Given the description of an element on the screen output the (x, y) to click on. 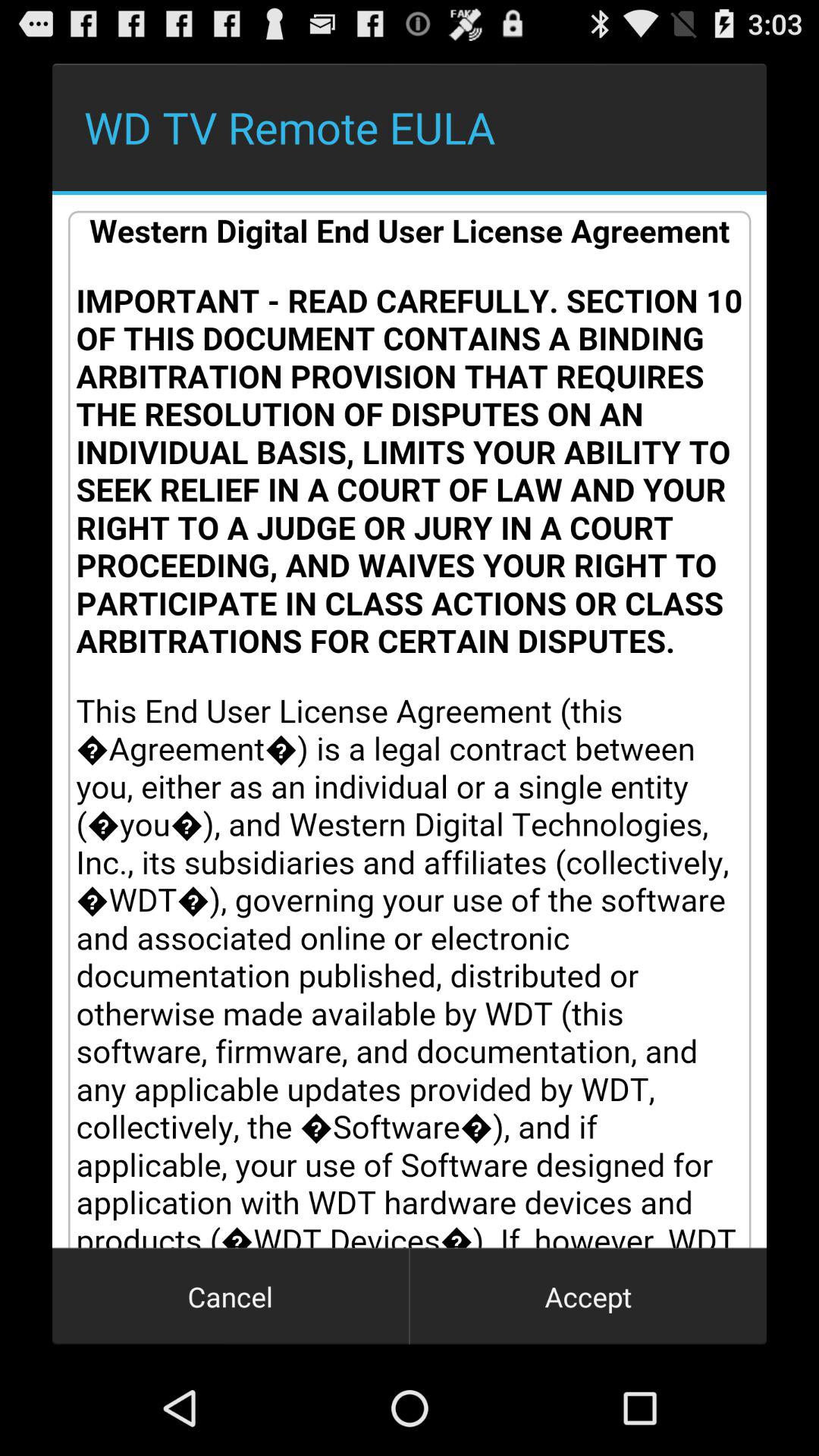
select agreement (409, 721)
